Given the description of an element on the screen output the (x, y) to click on. 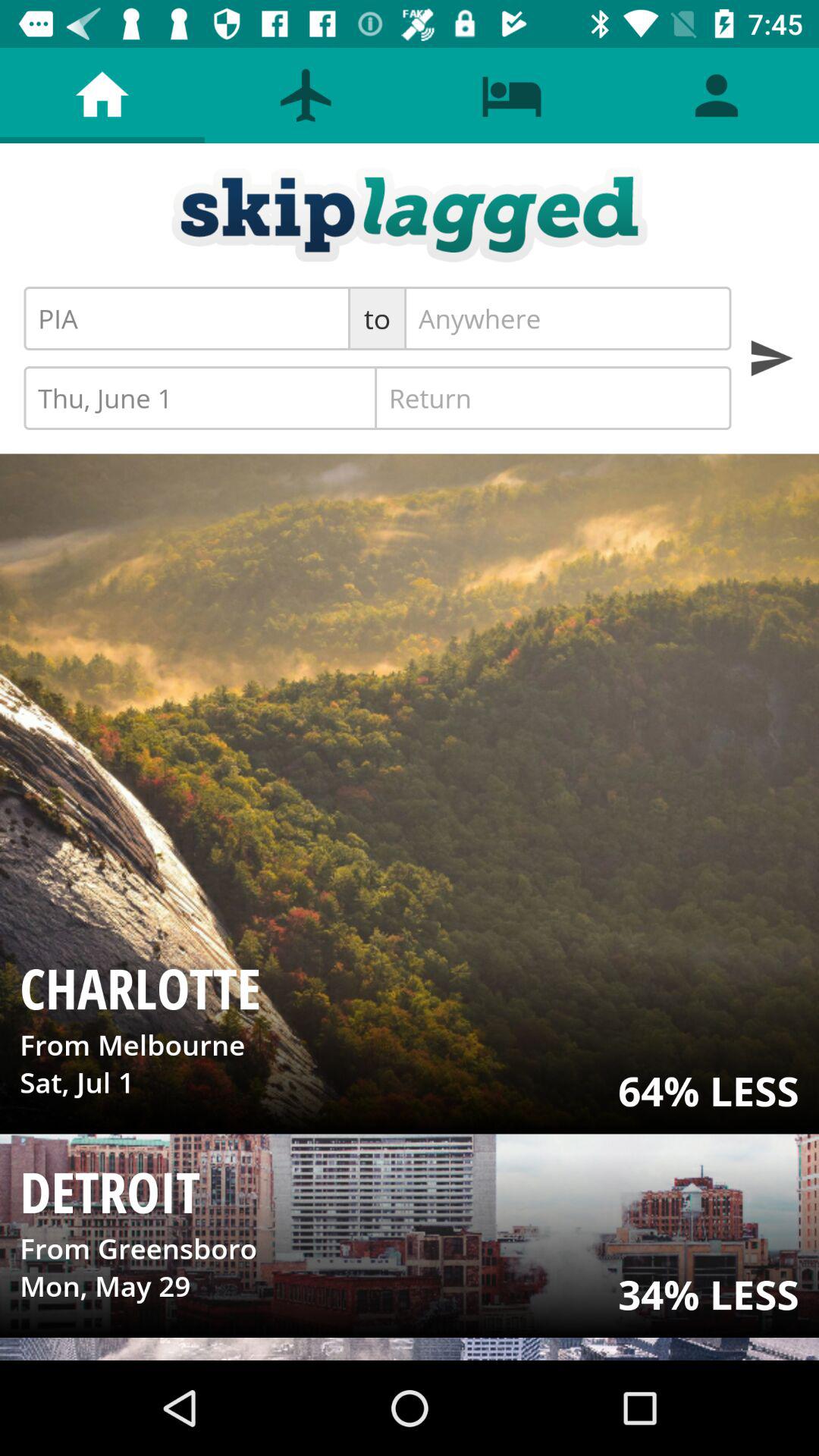
jump to thu, june 1 item (202, 397)
